Given the description of an element on the screen output the (x, y) to click on. 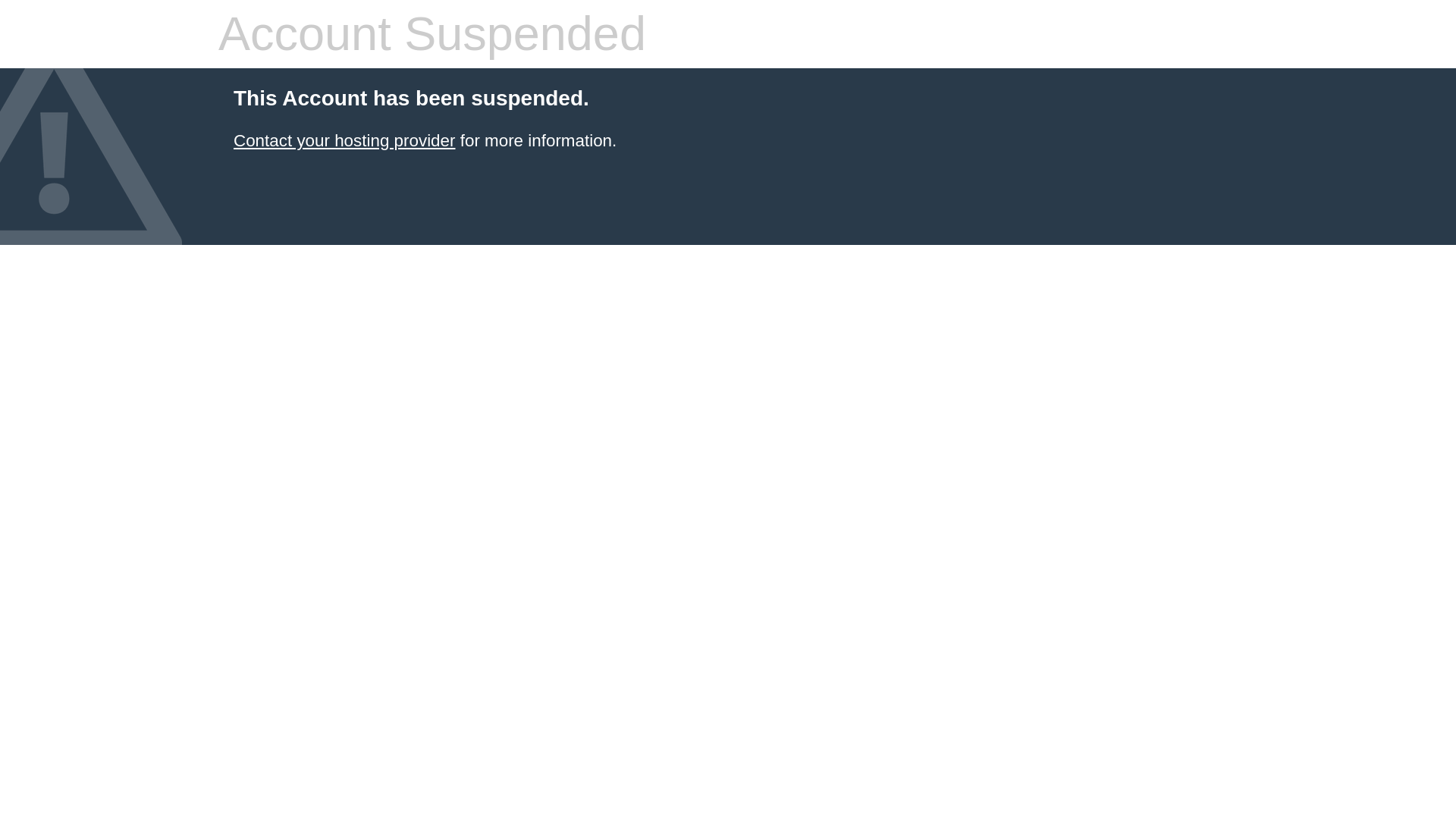
Contact your hosting provider (343, 140)
